Given the description of an element on the screen output the (x, y) to click on. 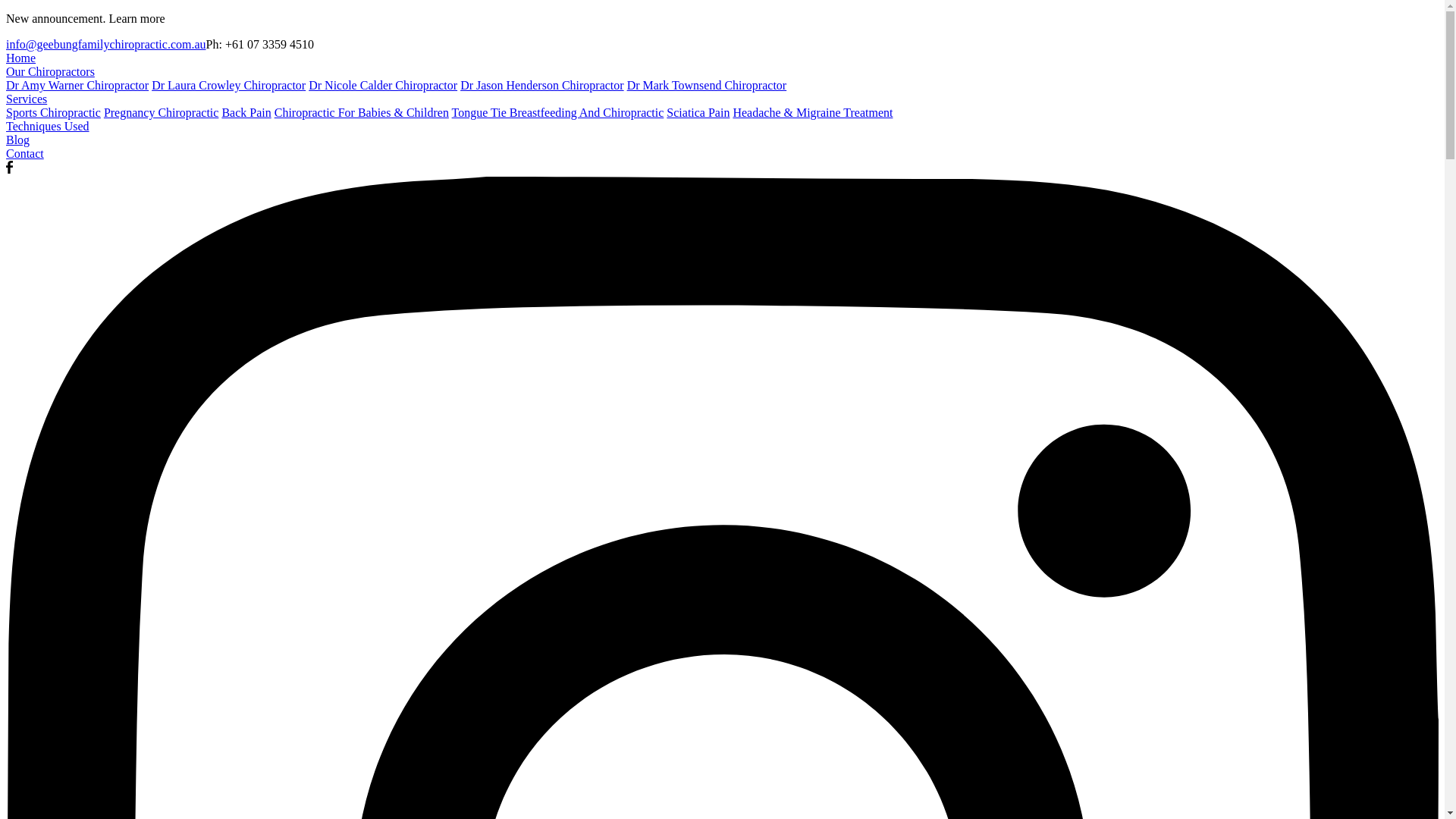
Dr Nicole Calder Chiropractor Element type: text (382, 84)
Pregnancy Chiropractic Element type: text (161, 112)
Blog Element type: text (17, 139)
Our Chiropractors Element type: text (50, 71)
Tongue Tie Breastfeeding And Chiropractic Element type: text (557, 112)
Dr Jason Henderson Chiropractor Element type: text (542, 84)
Services Element type: text (26, 98)
Sciatica Pain Element type: text (697, 112)
Back Pain Element type: text (245, 112)
Chiropractic For Babies & Children Element type: text (361, 112)
Contact Element type: text (24, 153)
Dr Laura Crowley Chiropractor Element type: text (228, 84)
Dr Amy Warner Chiropractor Element type: text (77, 84)
Home Element type: text (20, 57)
info@geebungfamilychiropractic.com.au Element type: text (106, 43)
Dr Mark Townsend Chiropractor Element type: text (707, 84)
Sports Chiropractic Element type: text (53, 112)
A link to this website's Facebook. Element type: hover (9, 169)
Techniques Used Element type: text (47, 125)
Headache & Migraine Treatment Element type: text (812, 112)
